Given the description of an element on the screen output the (x, y) to click on. 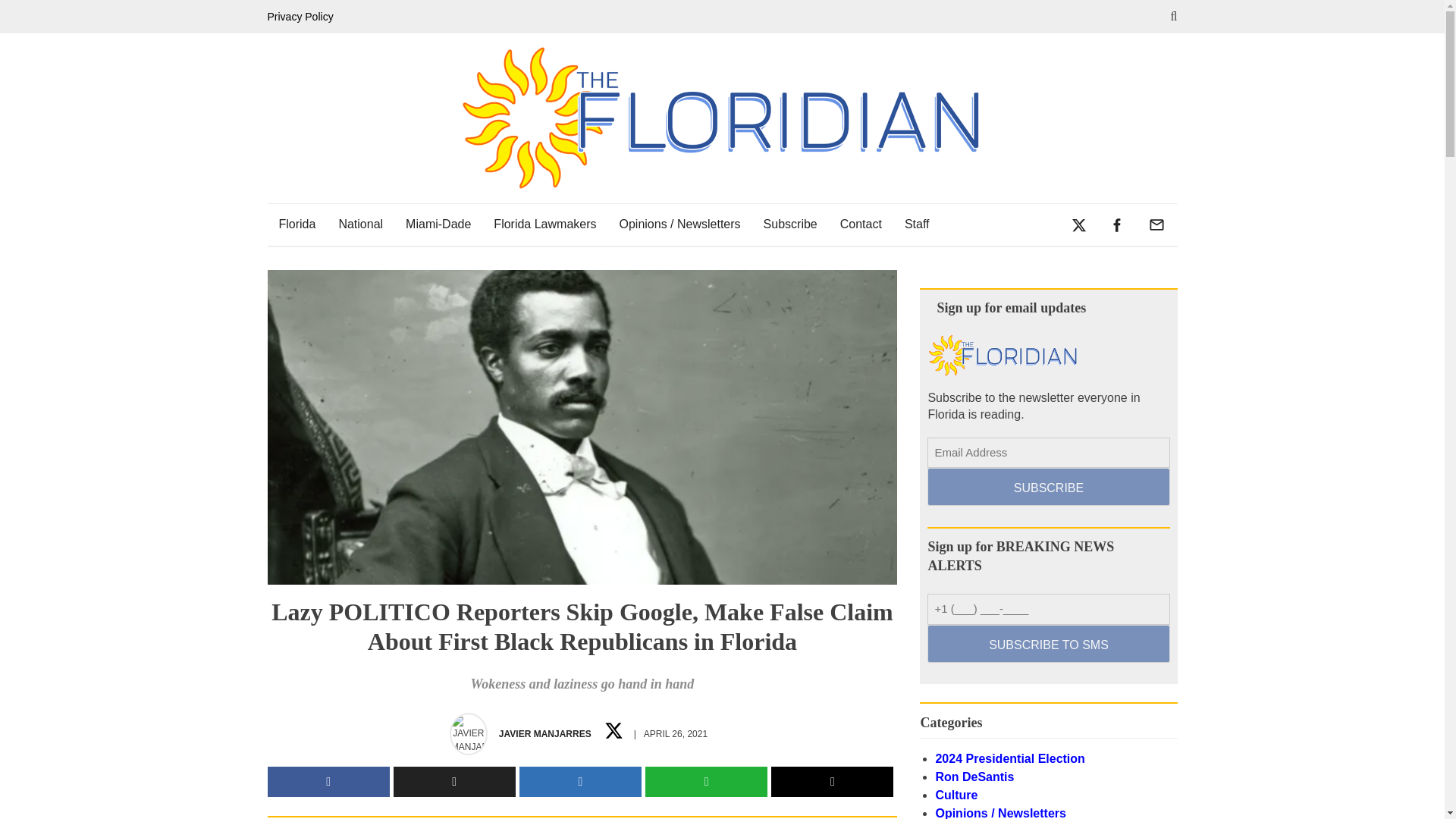
Subscribe (790, 223)
Contact (860, 223)
SUBSCRIBE TO SMS (1048, 643)
Florida (296, 223)
Florida Lawmakers (544, 223)
SUBSCRIBE (1048, 486)
National (360, 223)
Miami-Dade (437, 223)
JAVIER MANJARRES (545, 734)
Staff (916, 223)
